Given the description of an element on the screen output the (x, y) to click on. 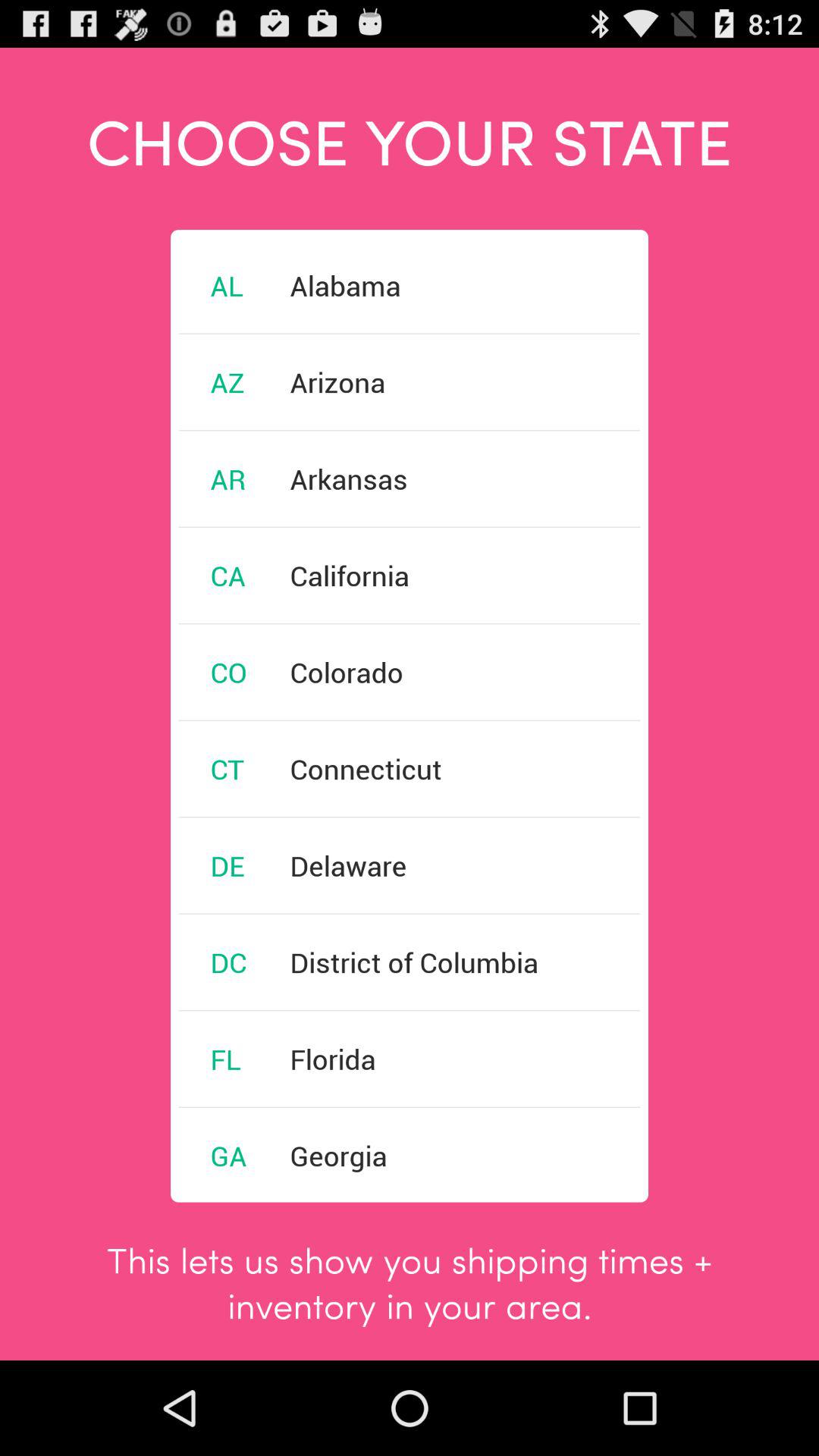
open item to the right of al icon (345, 285)
